Given the description of an element on the screen output the (x, y) to click on. 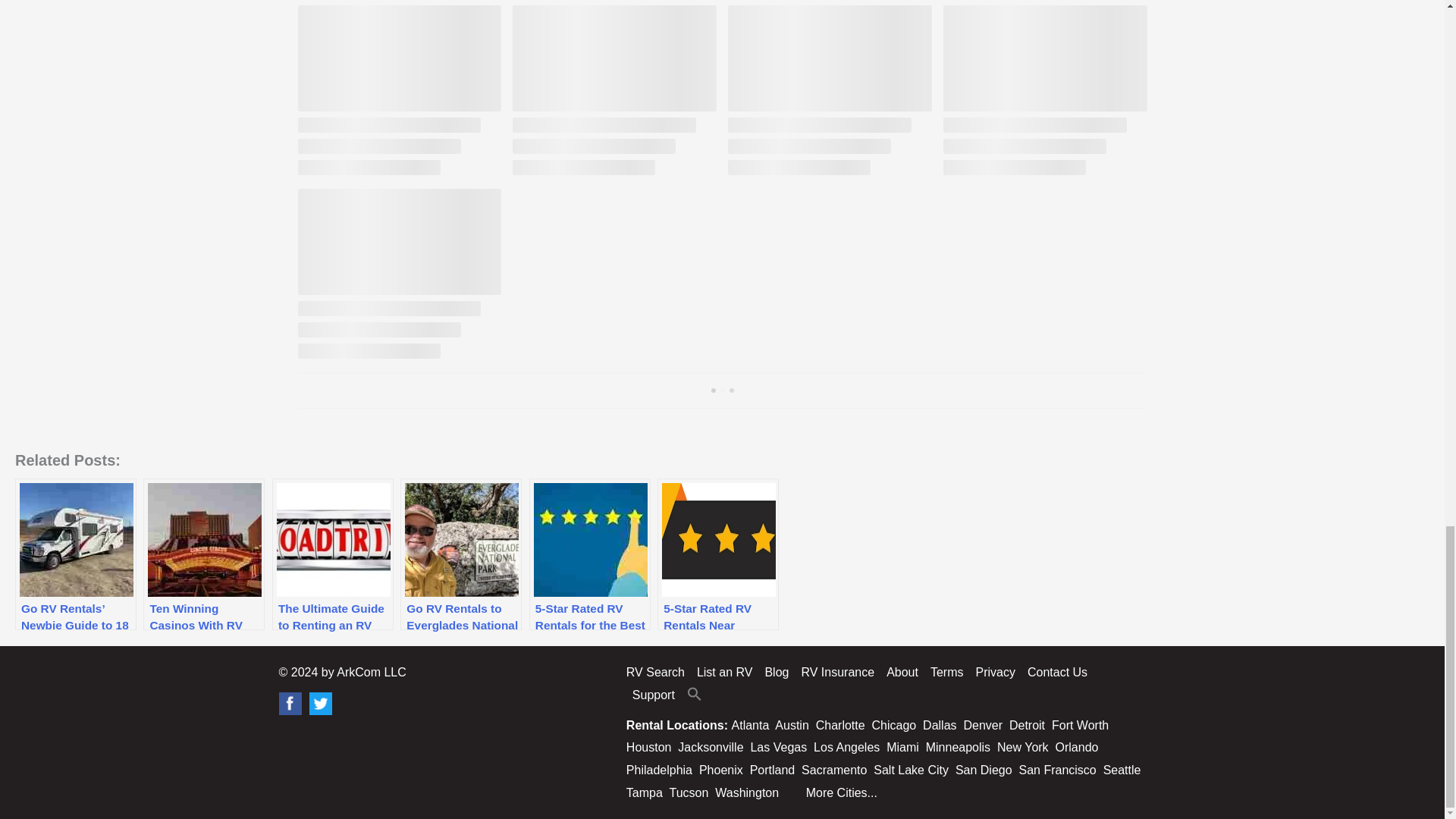
About (902, 671)
Terms (946, 671)
Blog (776, 671)
RV Insurance (837, 671)
Privacy (994, 671)
Atlanta (751, 725)
Contact Us (1057, 671)
Austin (791, 725)
List an RV (724, 671)
Support (653, 694)
Charlotte (839, 725)
RV Search (658, 671)
